Given the description of an element on the screen output the (x, y) to click on. 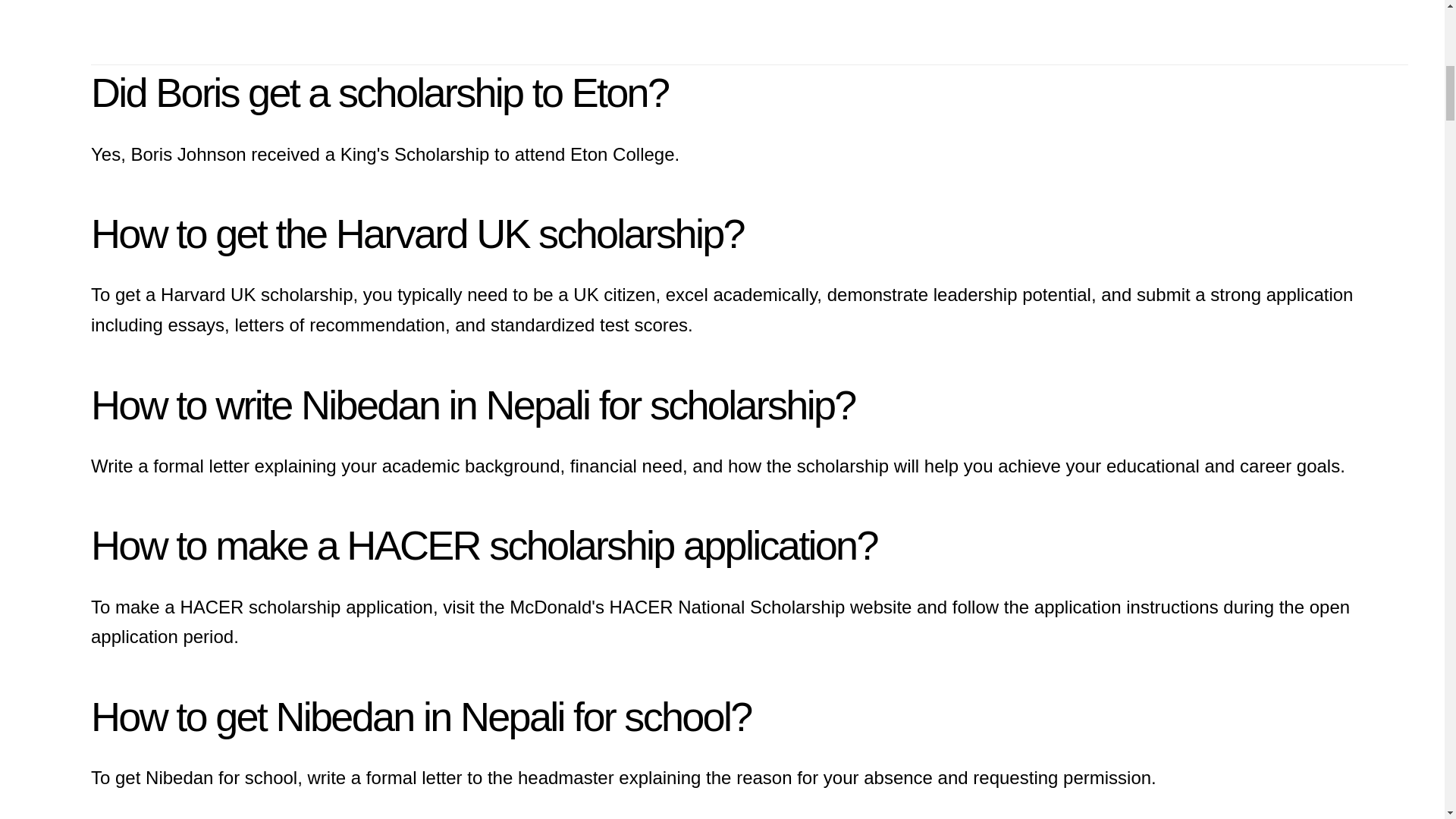
How to get the Harvard UK scholarship? (417, 233)
How to get Nibedan in Nepali for school? (420, 716)
How to write Nibedan in Nepali for scholarship? (473, 404)
Did Boris get a scholarship to Eton? (379, 92)
How to make a HACER scholarship application? (483, 545)
